Given the description of an element on the screen output the (x, y) to click on. 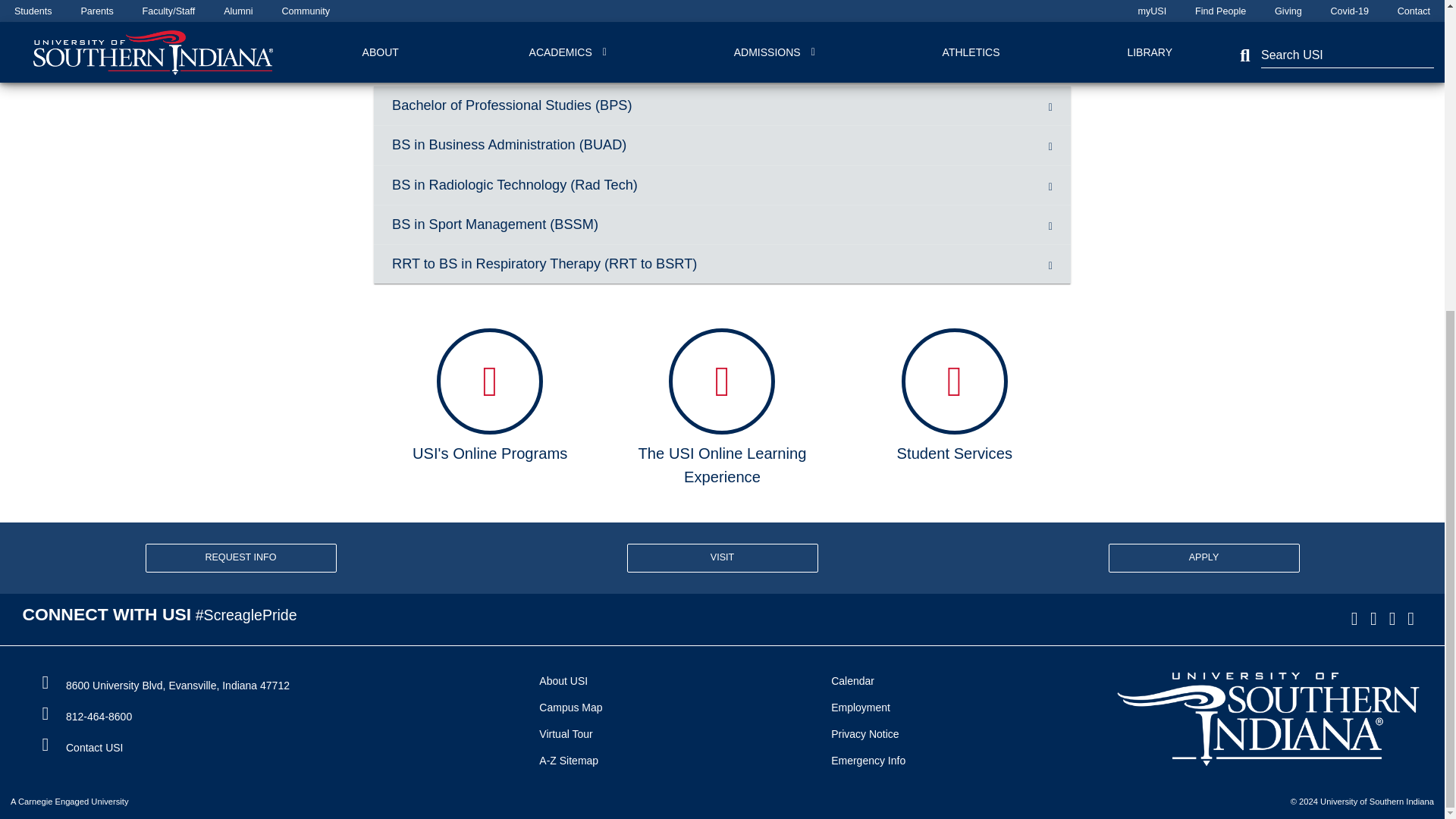
3 Reasons to Enroll in a Degree Completion Program (715, 26)
